Given the description of an element on the screen output the (x, y) to click on. 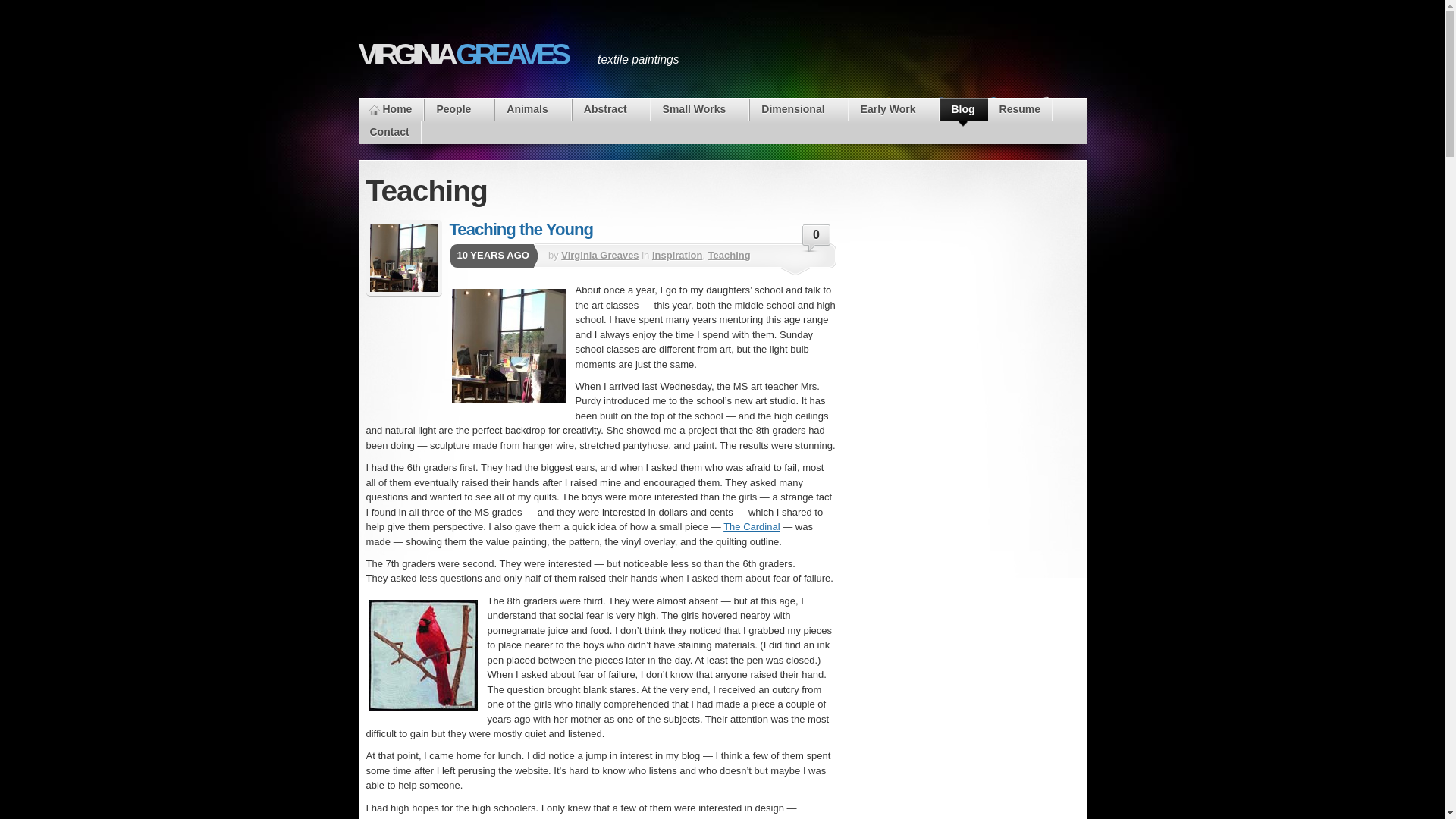
VIRGINIA GREAVES (462, 54)
People (459, 109)
Posts by Virginia Greaves  (599, 255)
Teaching the Young (403, 257)
RSS Feeds (893, 120)
Email (1050, 120)
Home Page (390, 109)
Permanent Link: Teaching the Young (520, 229)
Animals (532, 109)
Twitter (998, 120)
